Given the description of an element on the screen output the (x, y) to click on. 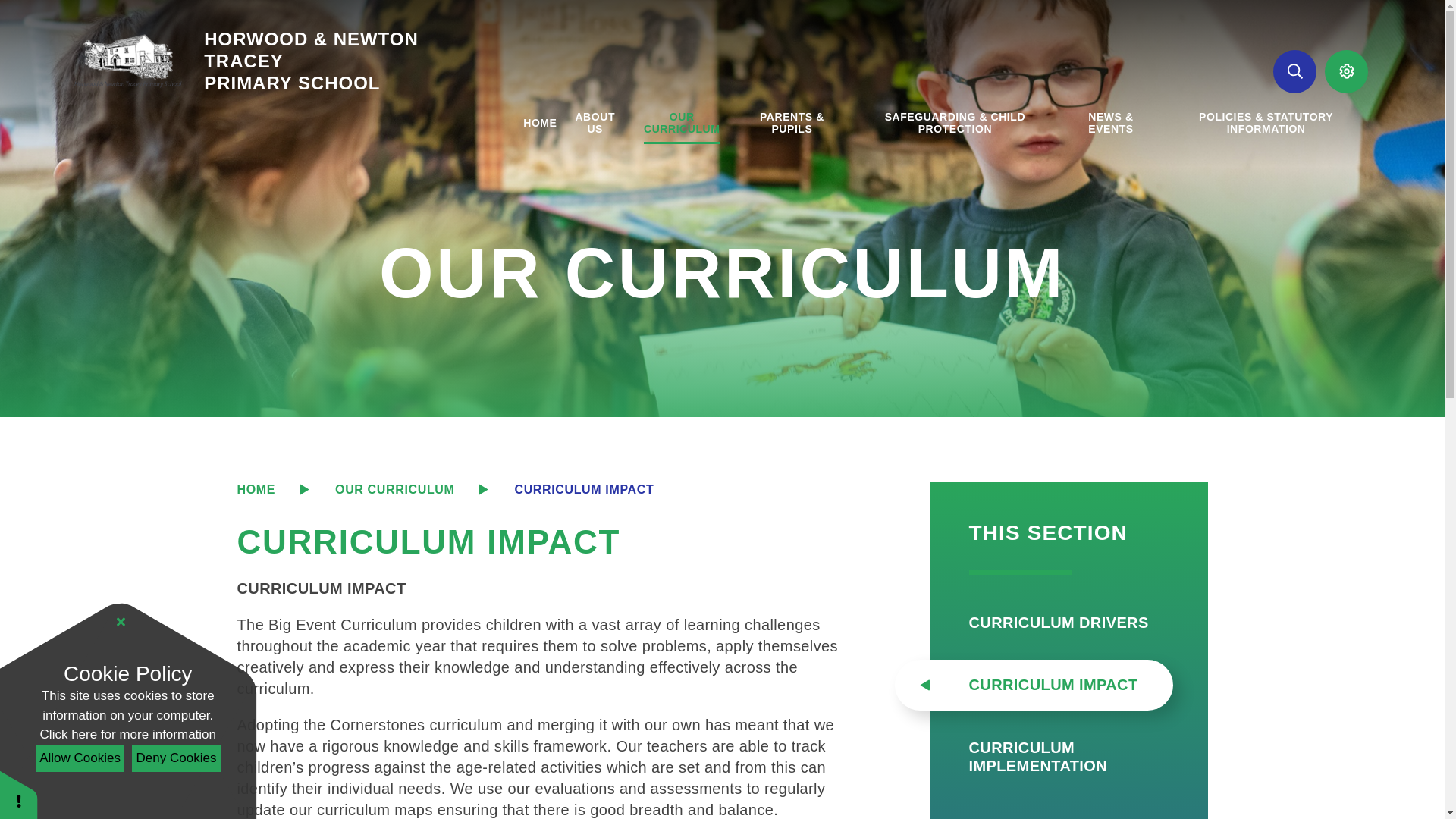
HOME (539, 122)
OUR CURRICULUM (681, 123)
Deny Cookies (175, 758)
Allow Cookies (78, 758)
ABOUT US (594, 123)
See cookie policy (127, 734)
